Given the description of an element on the screen output the (x, y) to click on. 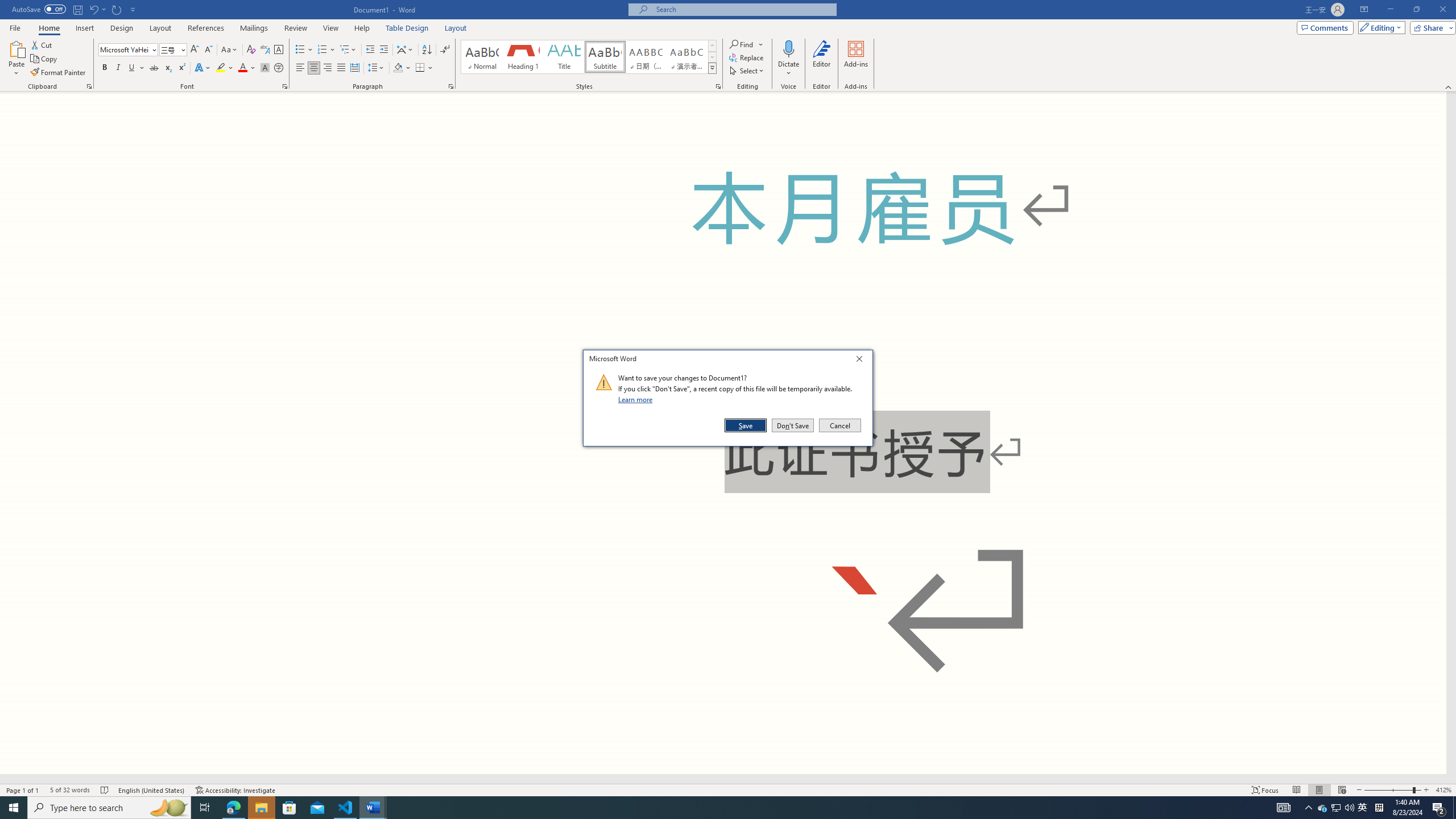
Bold (104, 67)
Layout (455, 28)
Microsoft search (742, 9)
Font (128, 49)
AutomationID: QuickStylesGallery (588, 56)
Mailings (253, 28)
Editor (821, 58)
Read Mode (1296, 790)
Justify (340, 67)
Increase Indent (383, 49)
Undo Grow Font (96, 9)
Word - 2 running windows (373, 807)
Shading (402, 67)
